Given the description of an element on the screen output the (x, y) to click on. 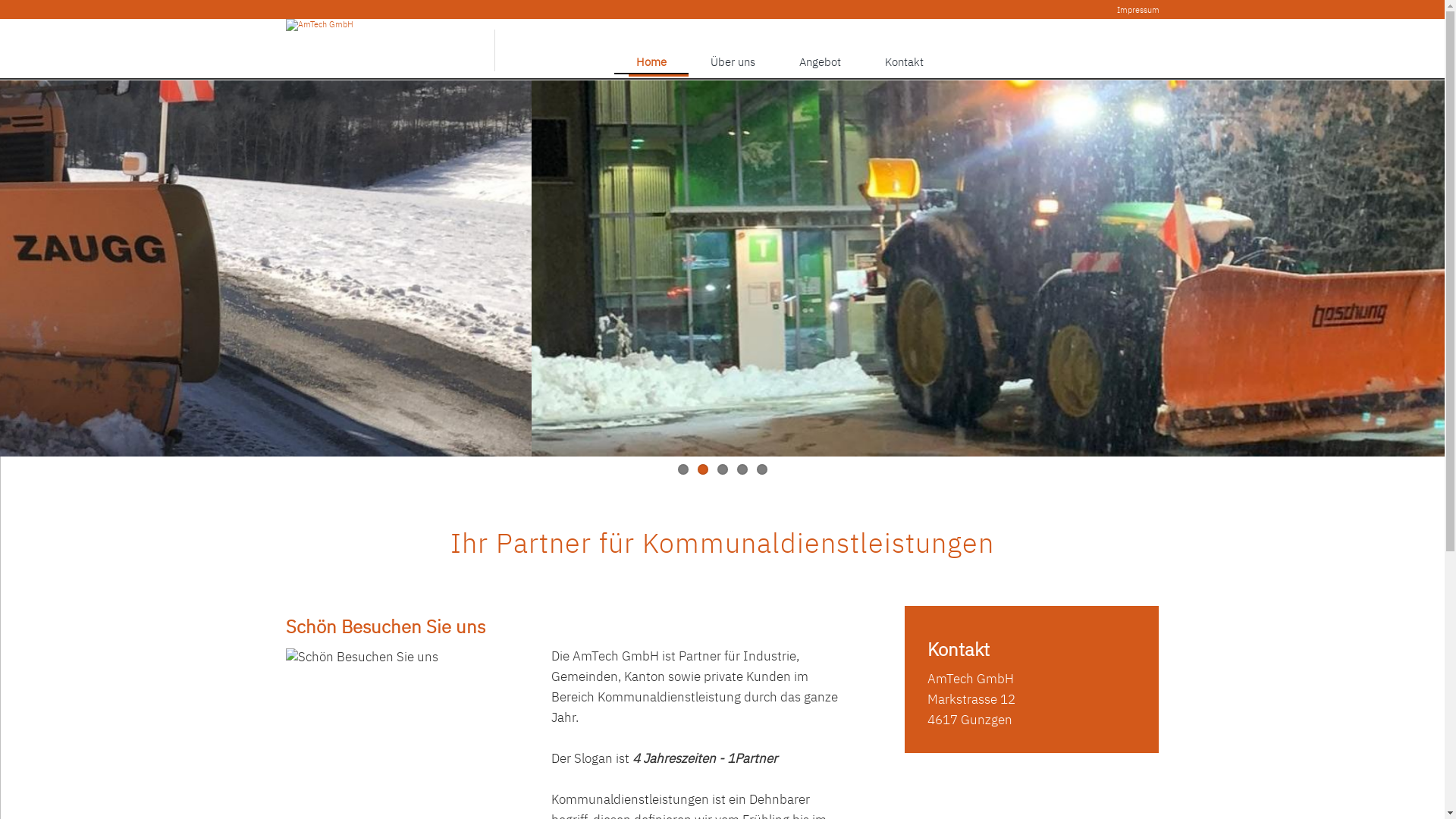
Home Element type: text (651, 61)
3 Element type: text (722, 469)
2 Element type: text (702, 469)
Impressum Element type: text (1137, 9)
AmTech GmbH Element type: hover (318, 24)
4 Element type: text (742, 469)
5 Element type: text (761, 469)
Kontakt Element type: text (903, 61)
1 Element type: text (682, 469)
Angebot Element type: text (819, 61)
